Given the description of an element on the screen output the (x, y) to click on. 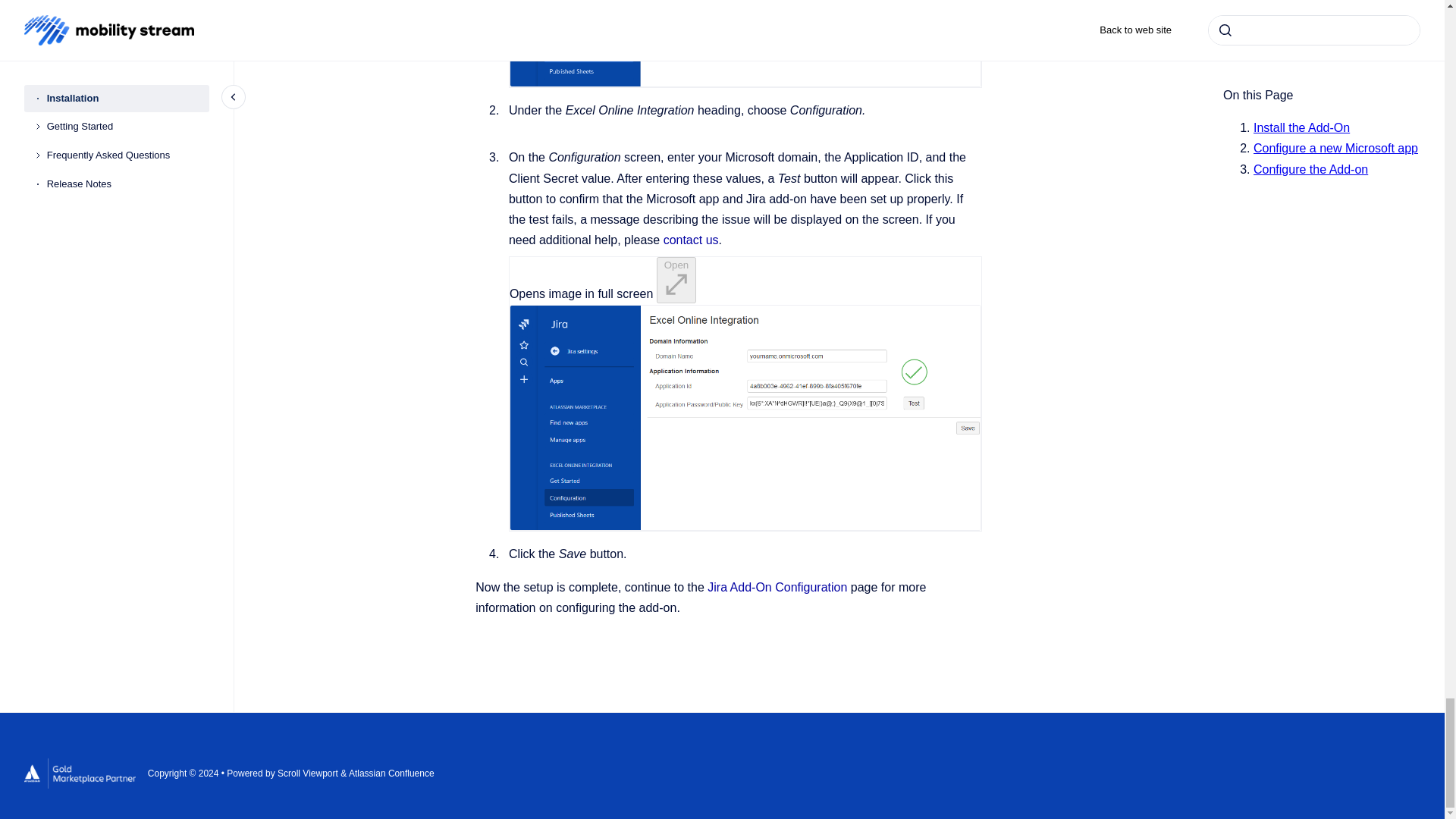
Scroll Viewport (309, 773)
contact us (691, 239)
Atlassian Confluence (391, 773)
Jira Add-On Configuration (777, 586)
